Given the description of an element on the screen output the (x, y) to click on. 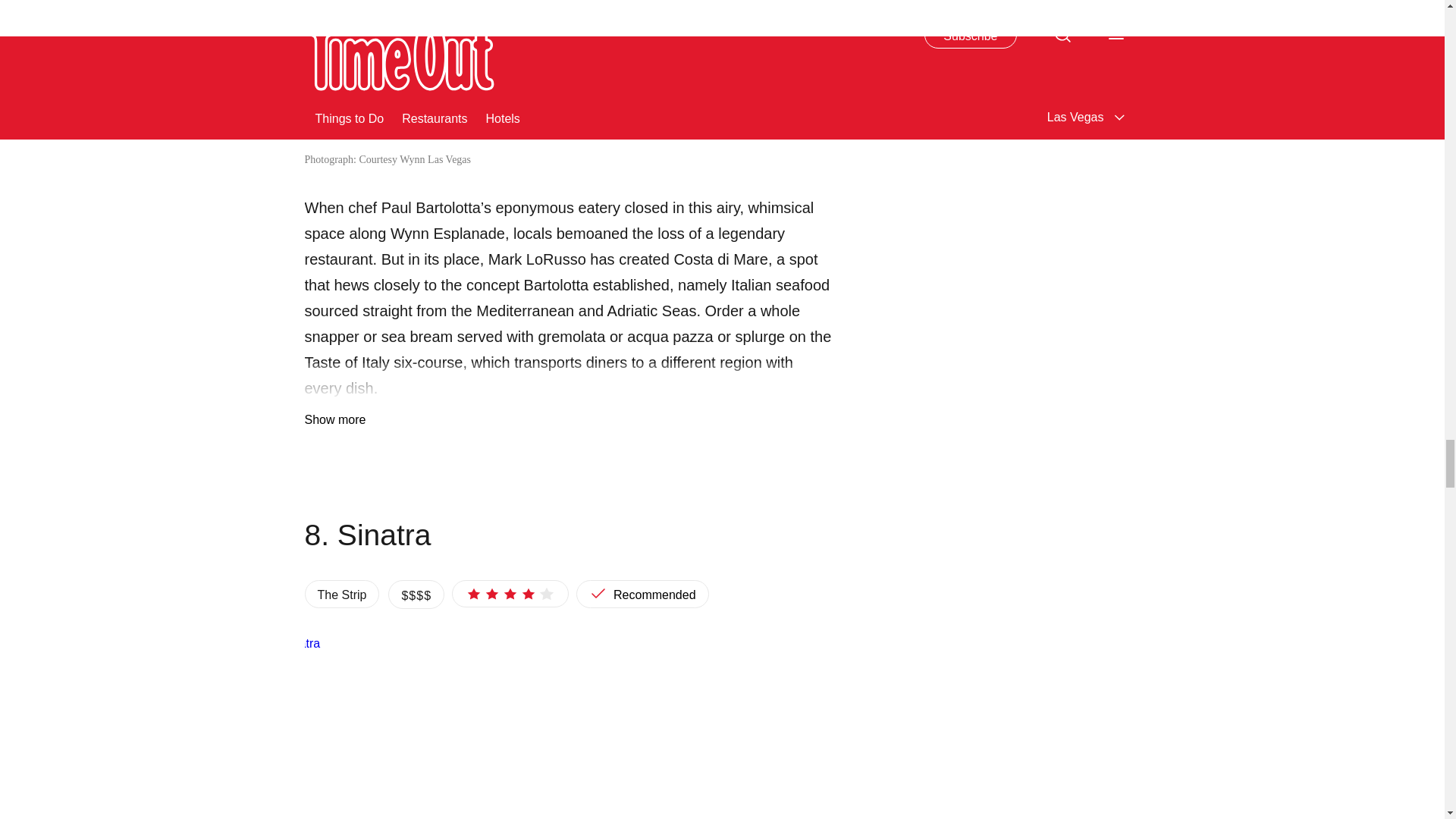
Sinatra (568, 726)
Costa Di Mare (568, 74)
